Given the description of an element on the screen output the (x, y) to click on. 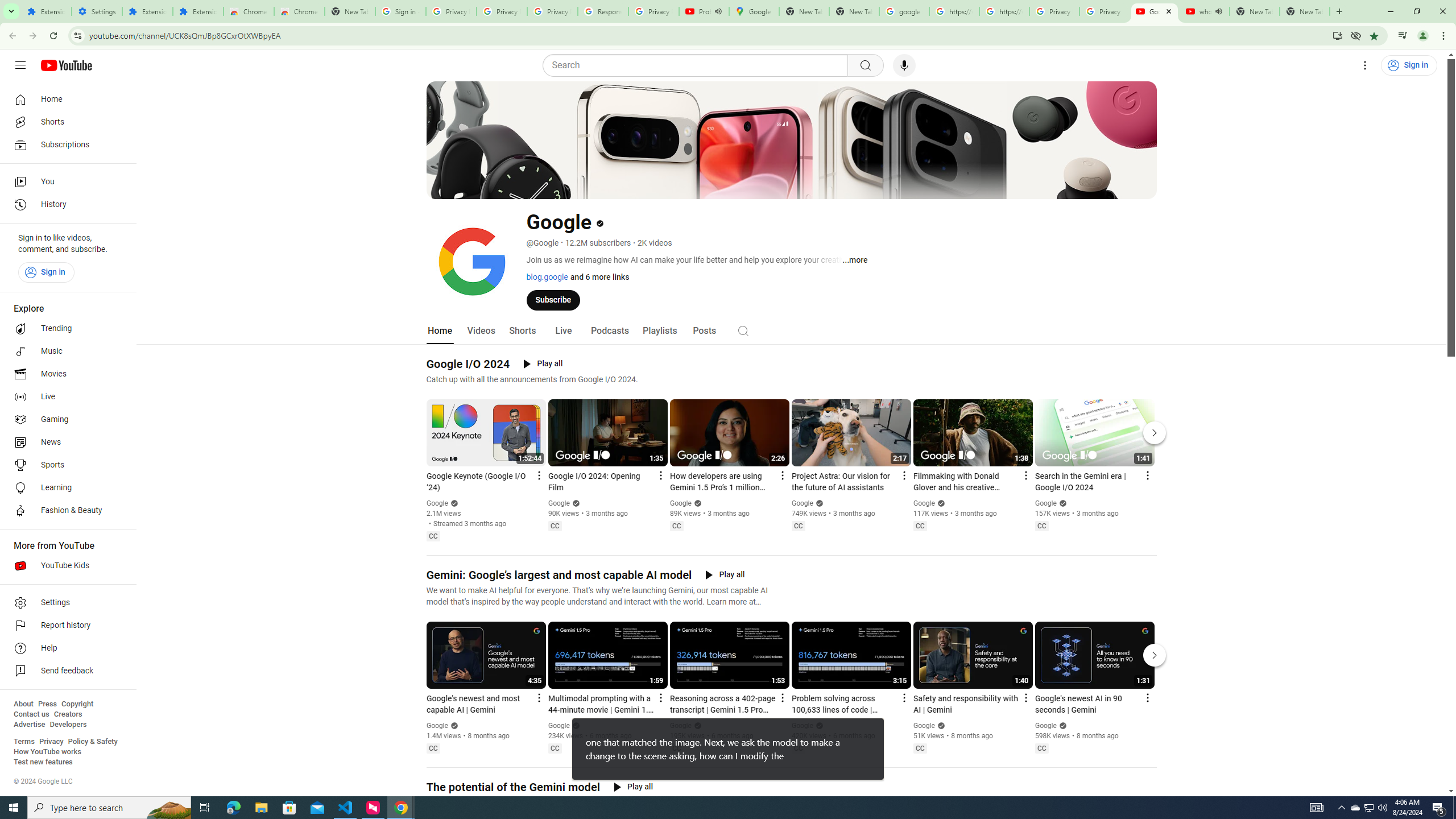
Movies (64, 373)
Contact us (31, 714)
News (64, 441)
Developers (68, 724)
Trending (64, 328)
Mute tab (1218, 10)
Chrome Web Store - Themes (299, 11)
Extensions (46, 11)
View site information (77, 35)
Play all (633, 787)
Control your music, videos, and more (1402, 35)
Settings (64, 602)
